Given the description of an element on the screen output the (x, y) to click on. 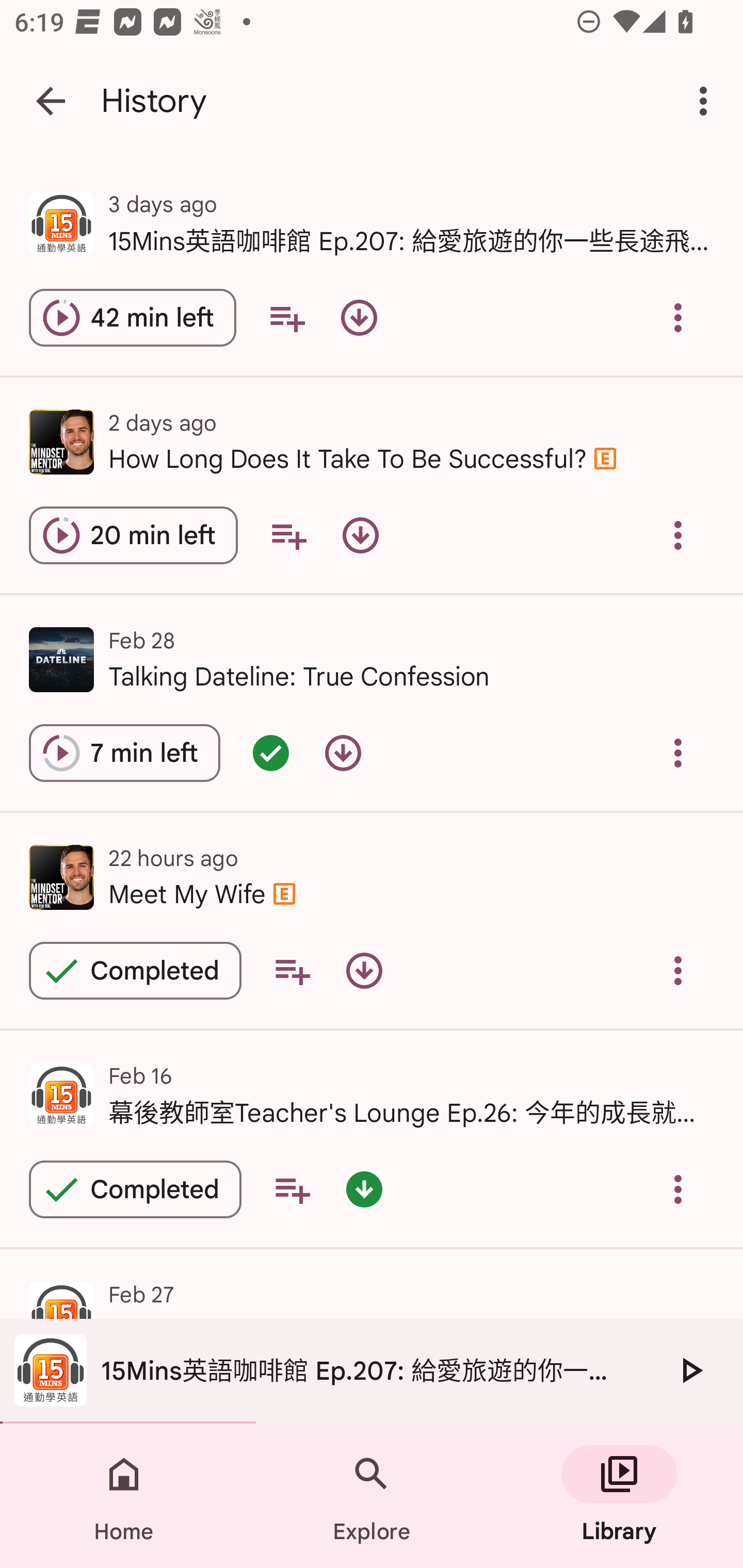
Navigate up (50, 101)
More options (706, 101)
Add to your queue (287, 317)
Download episode (359, 317)
Overflow menu (677, 317)
Add to your queue (288, 535)
Download episode (360, 535)
Overflow menu (677, 535)
Episode queued - double tap for options (270, 753)
Download episode (342, 753)
Overflow menu (677, 753)
Play episode Meet My Wife Completed (134, 970)
Add to your queue (291, 970)
Download episode (364, 970)
Overflow menu (677, 970)
Add to your queue (291, 1189)
Episode downloaded - double tap for options (364, 1189)
Overflow menu (677, 1189)
Play (690, 1370)
Home (123, 1495)
Explore (371, 1495)
